Given the description of an element on the screen output the (x, y) to click on. 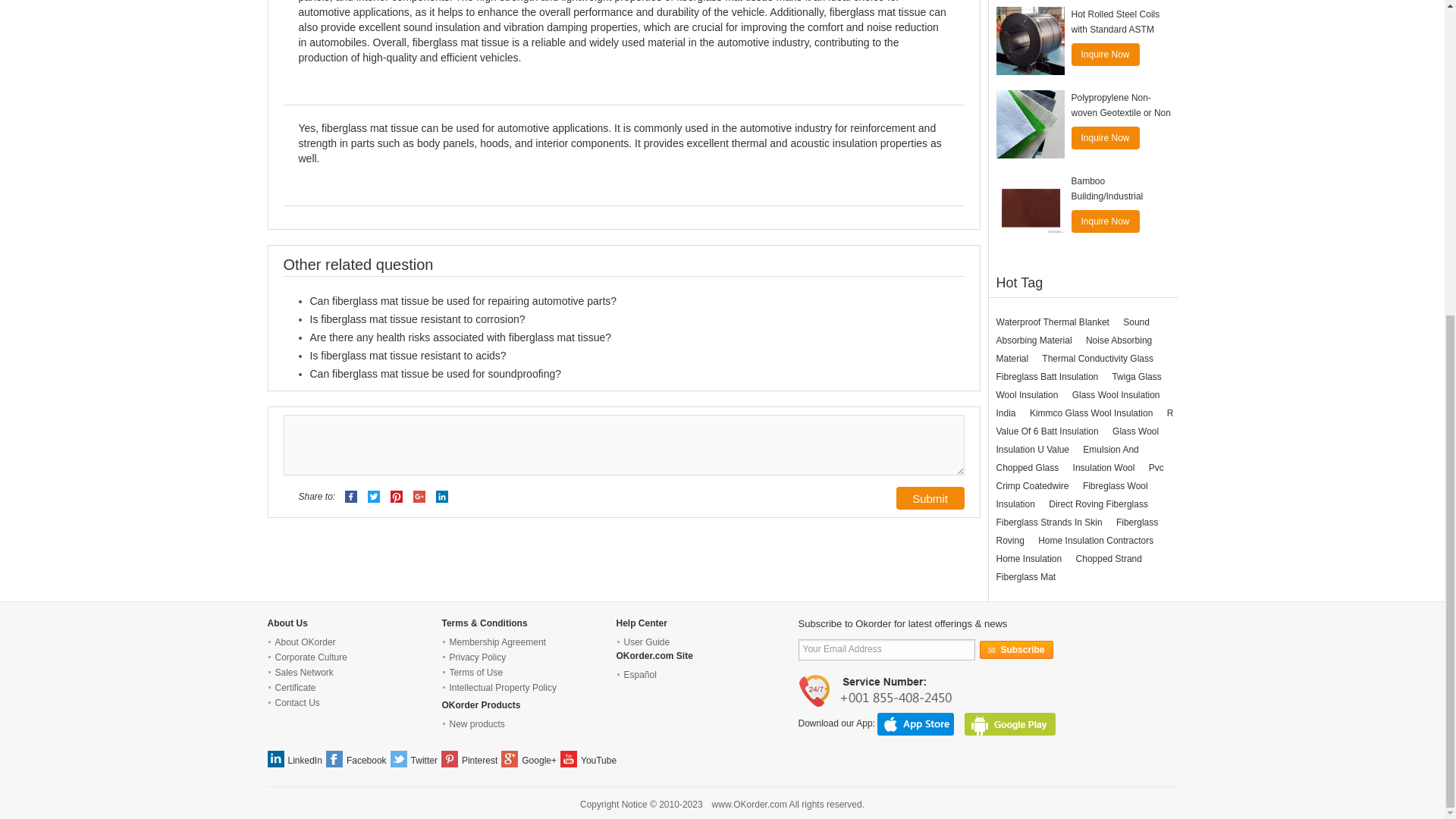
Twitter (374, 496)
Pinterest (396, 496)
LinkedIn (441, 496)
Subscribe (1015, 649)
Submit (929, 497)
Tweet (374, 496)
Okorder Hot Rolled Steel Coils with Standard ASTM (1029, 40)
Facebook (351, 496)
LinkedIn (441, 496)
Your Email Address (885, 649)
Facebook (350, 496)
Pinterest (396, 496)
